Given the description of an element on the screen output the (x, y) to click on. 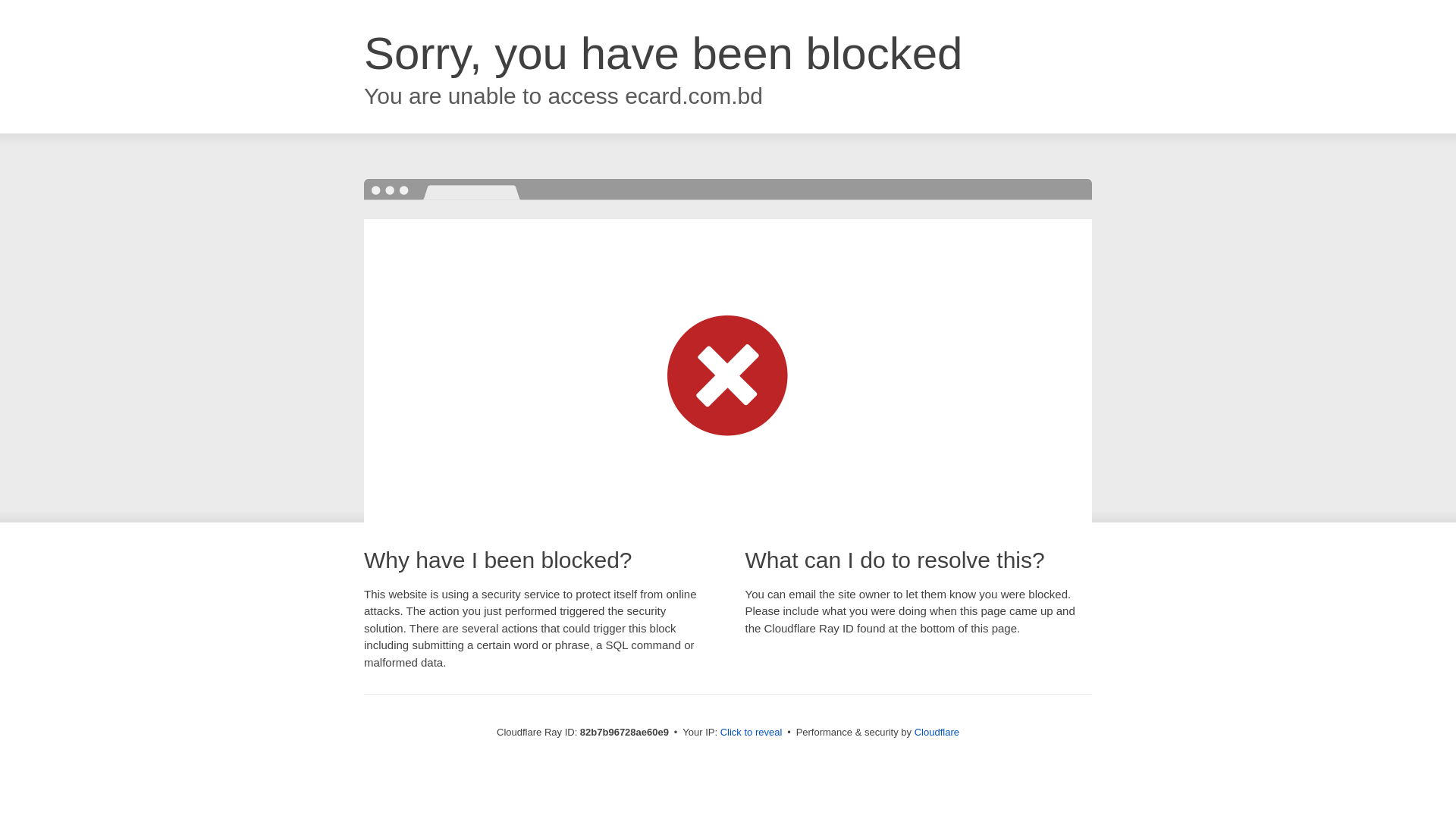
Click to reveal Element type: text (751, 732)
Cloudflare Element type: text (936, 731)
